Given the description of an element on the screen output the (x, y) to click on. 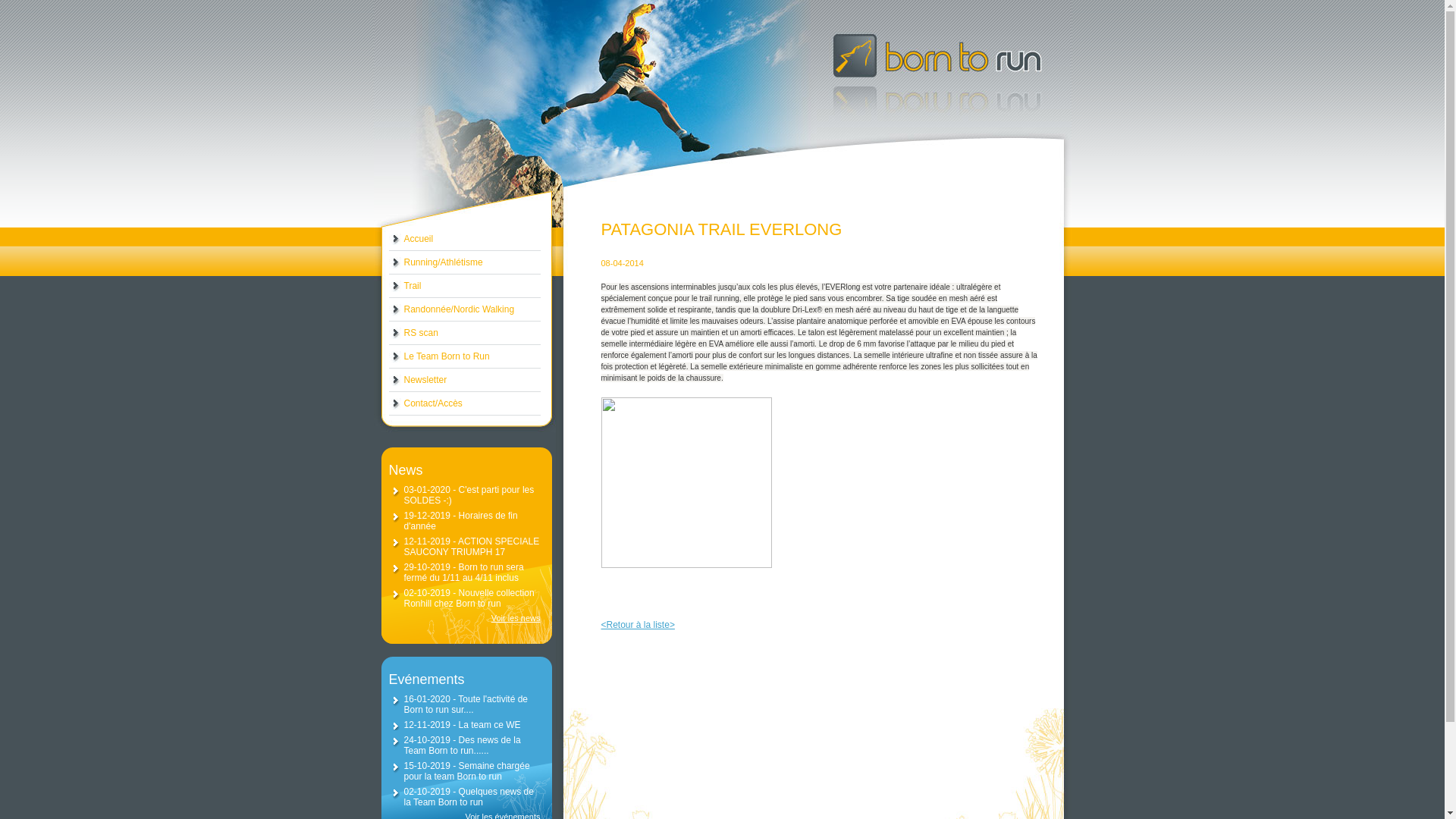
Accueil Element type: text (463, 239)
24-10-2019 - Des news de la Team Born to run...... Element type: text (461, 745)
Newsletter Element type: text (463, 380)
12-11-2019 - ACTION SPECIALE SAUCONY TRIUMPH 17 Element type: text (471, 546)
03-01-2020 - C'est parti pour les SOLDES -:) Element type: text (468, 494)
Le Team Born to Run Element type: text (463, 356)
02-10-2019 - Quelques news de la Team Born to run Element type: text (468, 796)
12-11-2019 - La team ce WE Element type: text (461, 724)
02-10-2019 - Nouvelle collection Ronhill chez Born to run Element type: text (468, 597)
Voir les news Element type: text (463, 617)
Trail Element type: text (463, 286)
RS scan Element type: text (463, 333)
